Given the description of an element on the screen output the (x, y) to click on. 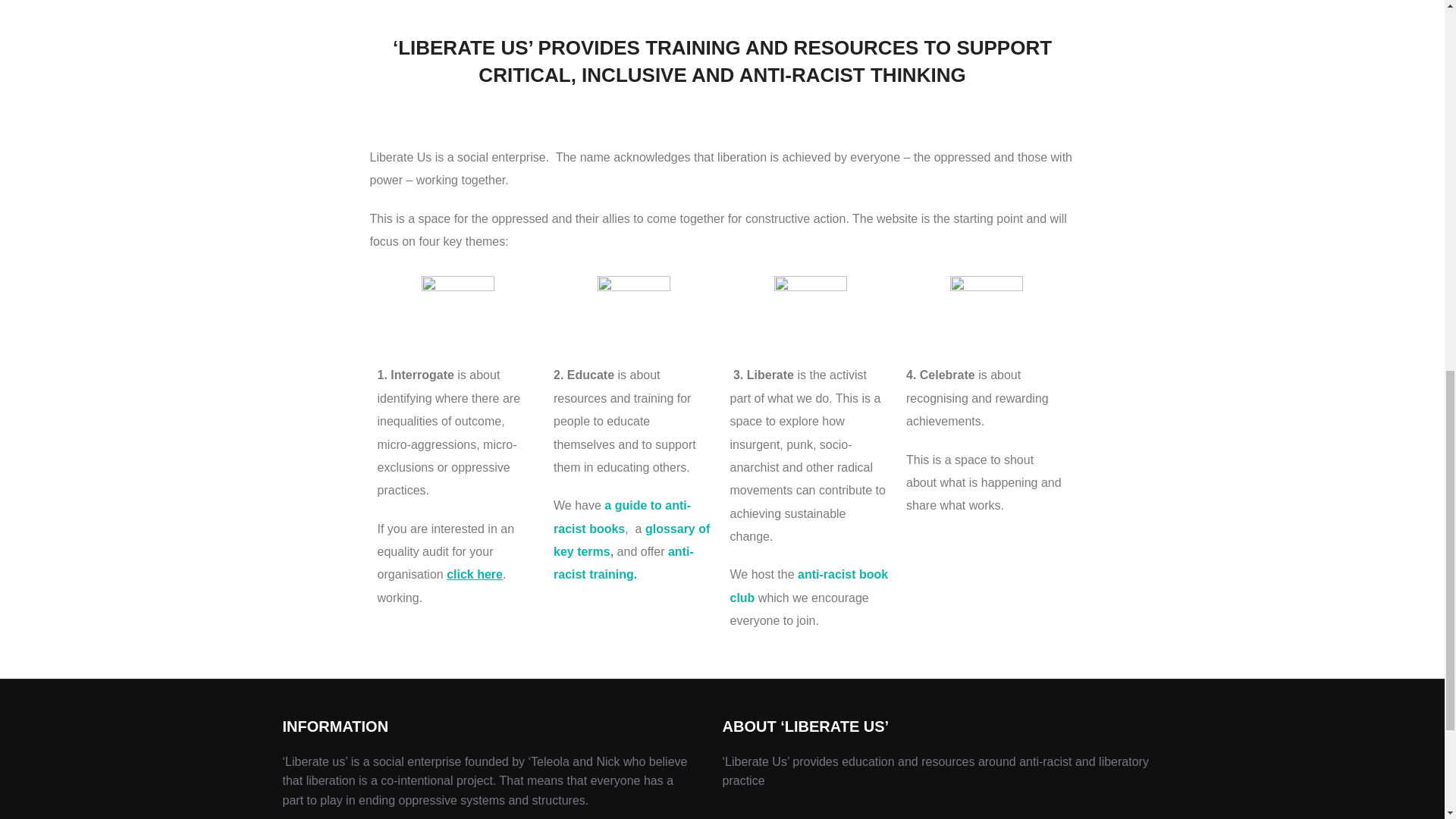
anti-racist book club (808, 585)
glossary of key terms (631, 539)
anti-racist training. (623, 562)
click here (474, 574)
a guide to anti-racist books (621, 516)
